Given the description of an element on the screen output the (x, y) to click on. 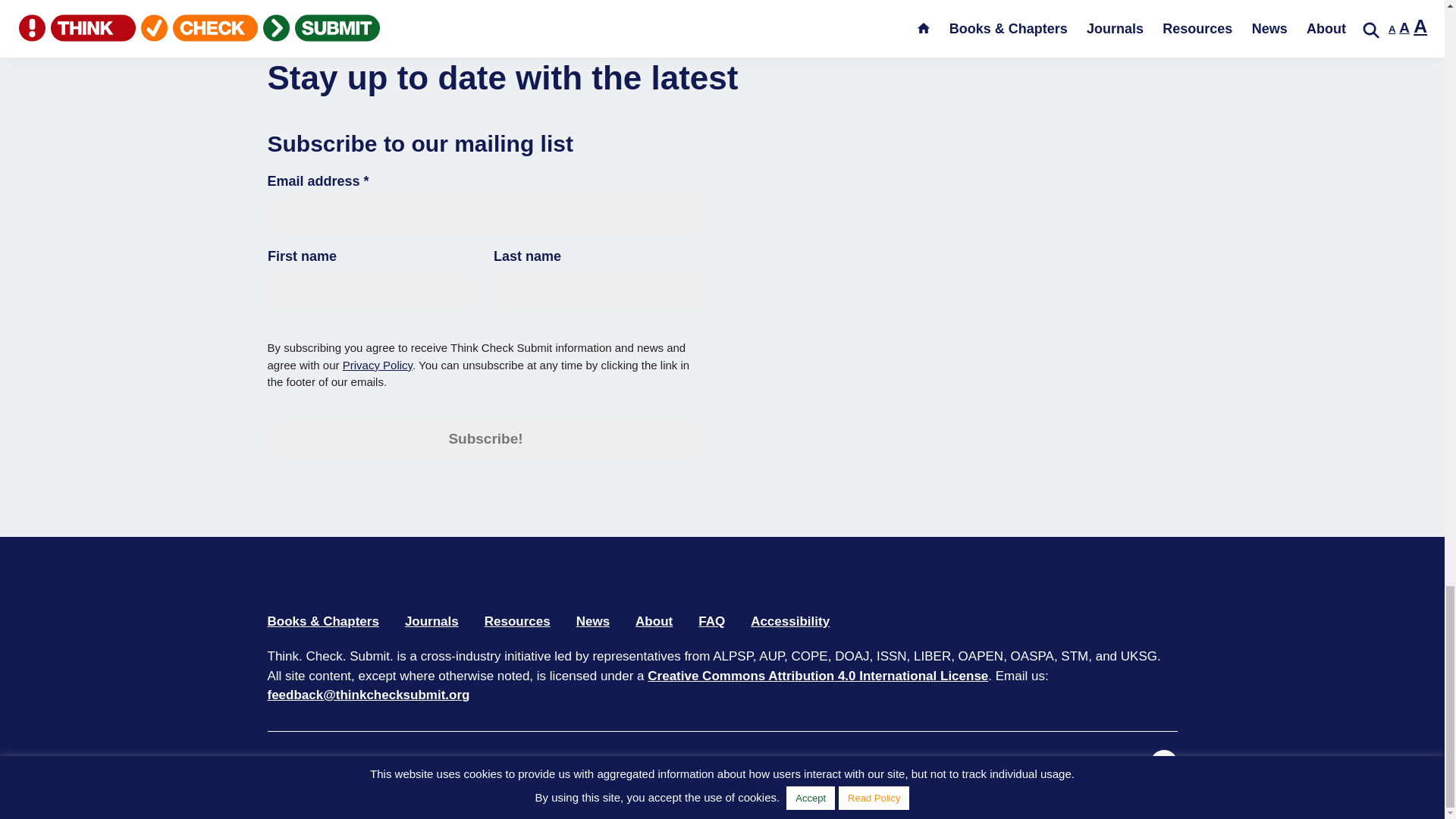
Privacy Policy (492, 766)
FAQ (711, 621)
First name (371, 290)
Privacy Policy (377, 364)
Subscribe! (484, 438)
Resources (517, 621)
News (593, 621)
About (653, 621)
Creative Commons Attribution 4.0 International License (817, 676)
Journals (431, 621)
Last name (598, 290)
Email address (484, 215)
Accessibility (790, 621)
Accessiblity (576, 766)
Subscribe! (484, 438)
